Given the description of an element on the screen output the (x, y) to click on. 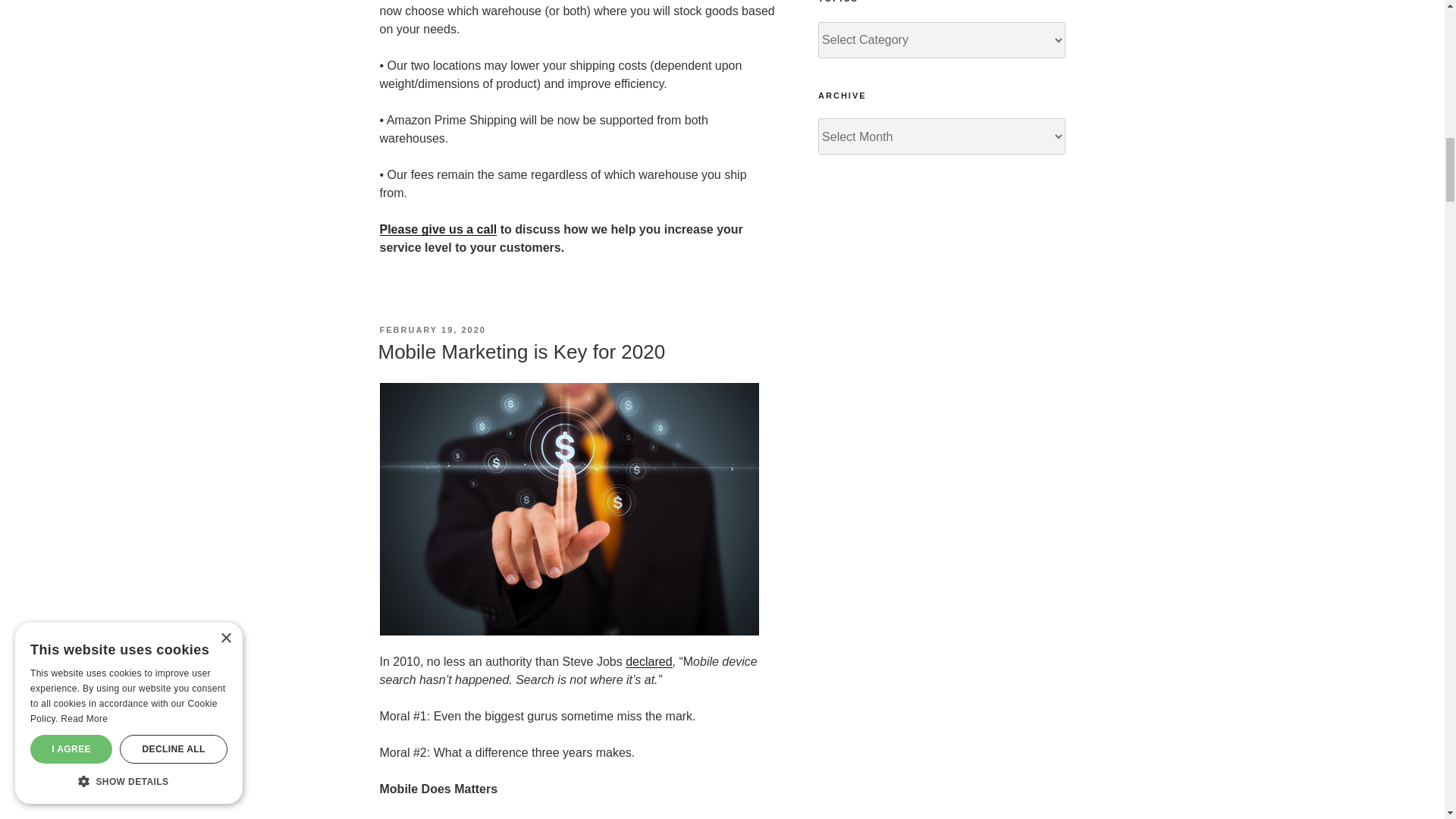
Please give us a call (437, 228)
declared (648, 661)
Mobile Marketing is Key for 2020 (521, 351)
FEBRUARY 19, 2020 (431, 329)
